Given the description of an element on the screen output the (x, y) to click on. 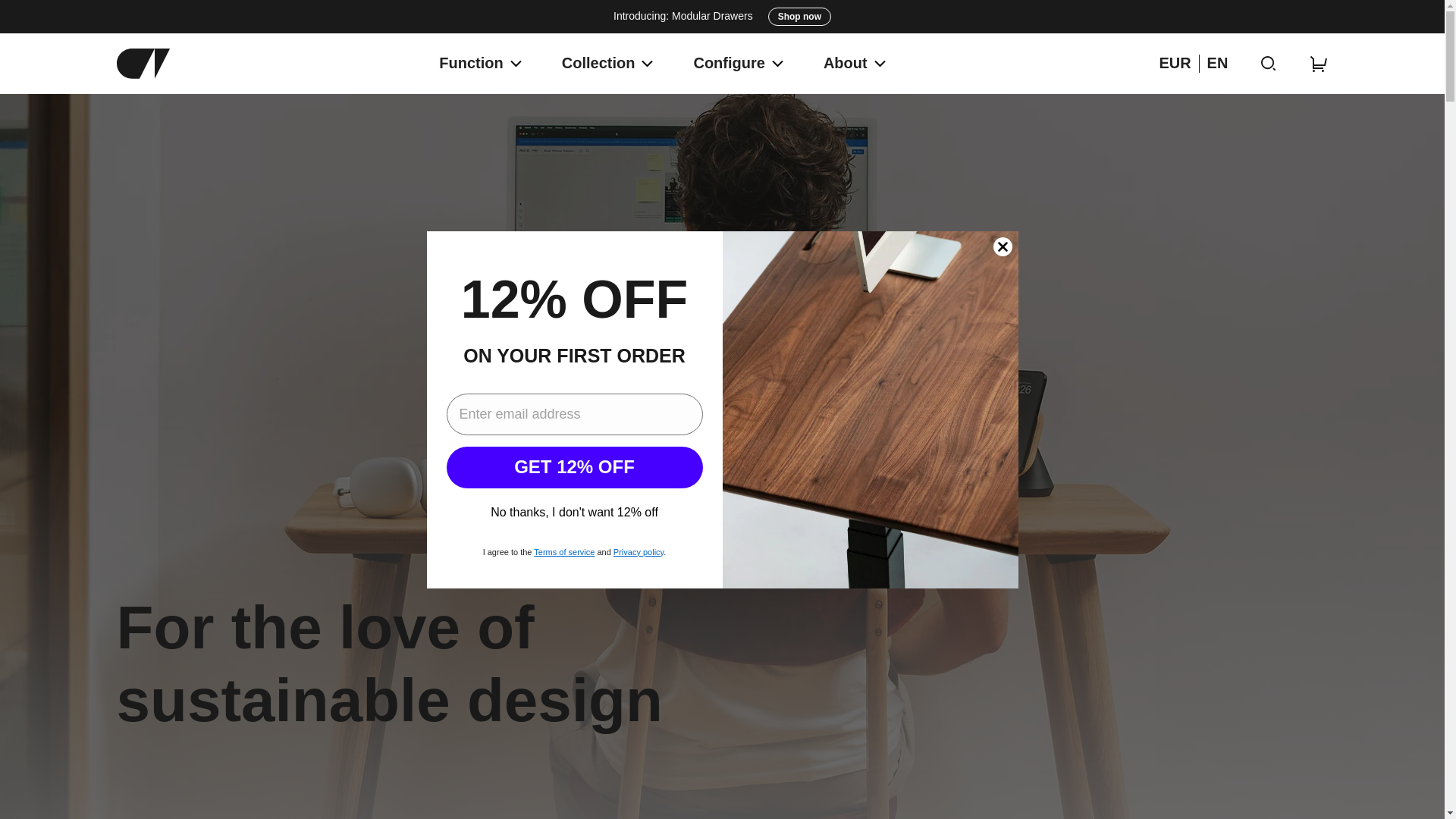
Function (470, 63)
Close dialog 1 (1001, 245)
